Given the description of an element on the screen output the (x, y) to click on. 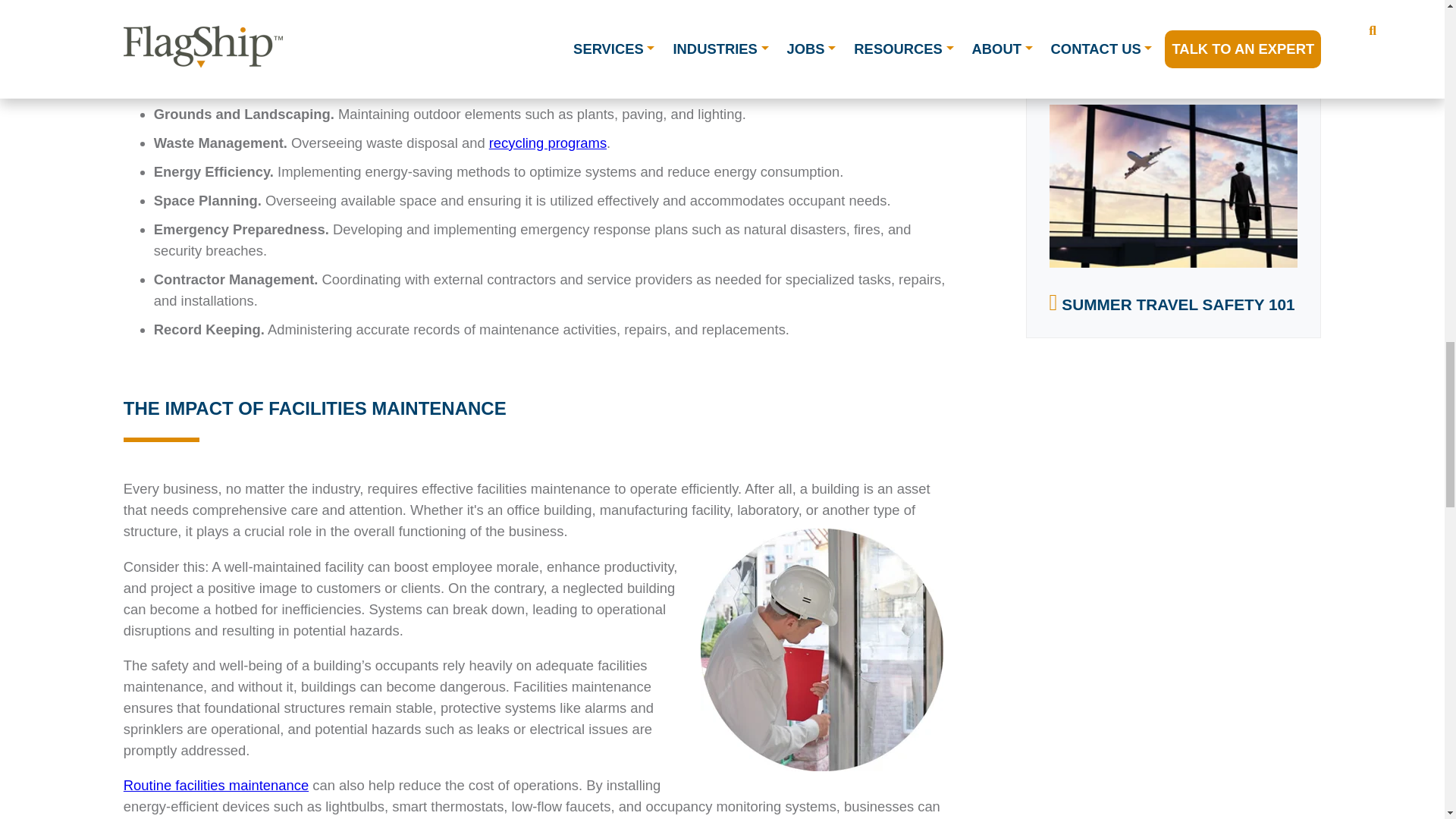
Building Inspector (821, 649)
Routine facilities maintenance (215, 785)
recycling programs (548, 142)
